Given the description of an element on the screen output the (x, y) to click on. 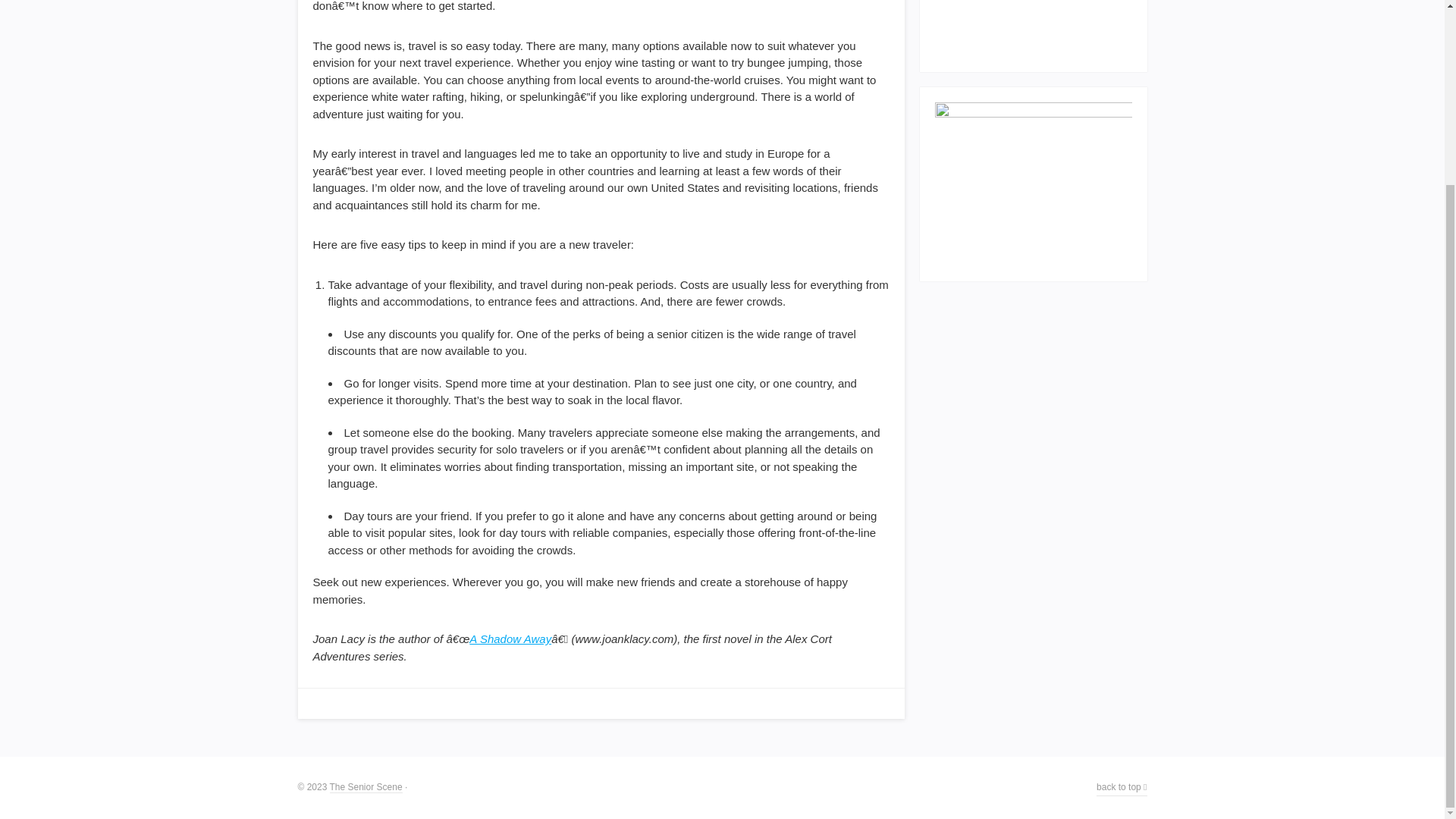
The Senior Scene (365, 787)
back to top (1121, 787)
A Shadow Away (509, 638)
